Given the description of an element on the screen output the (x, y) to click on. 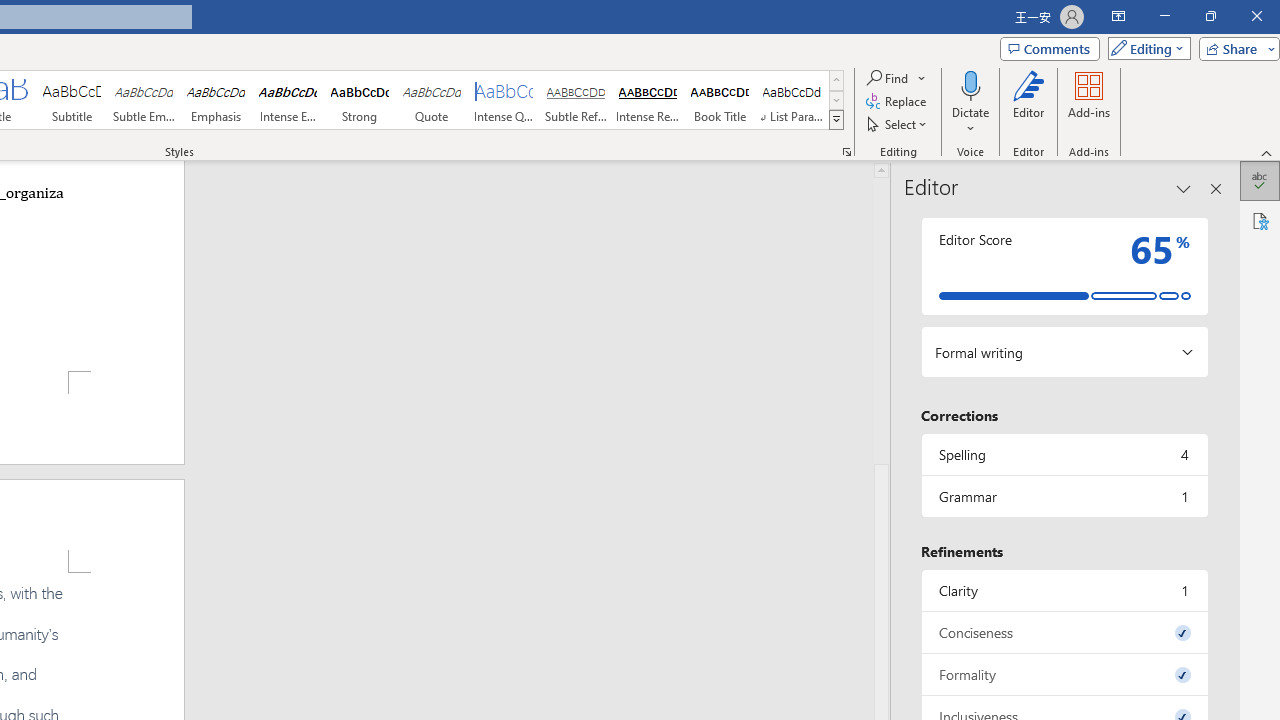
Accessibility (1260, 220)
